Given the description of an element on the screen output the (x, y) to click on. 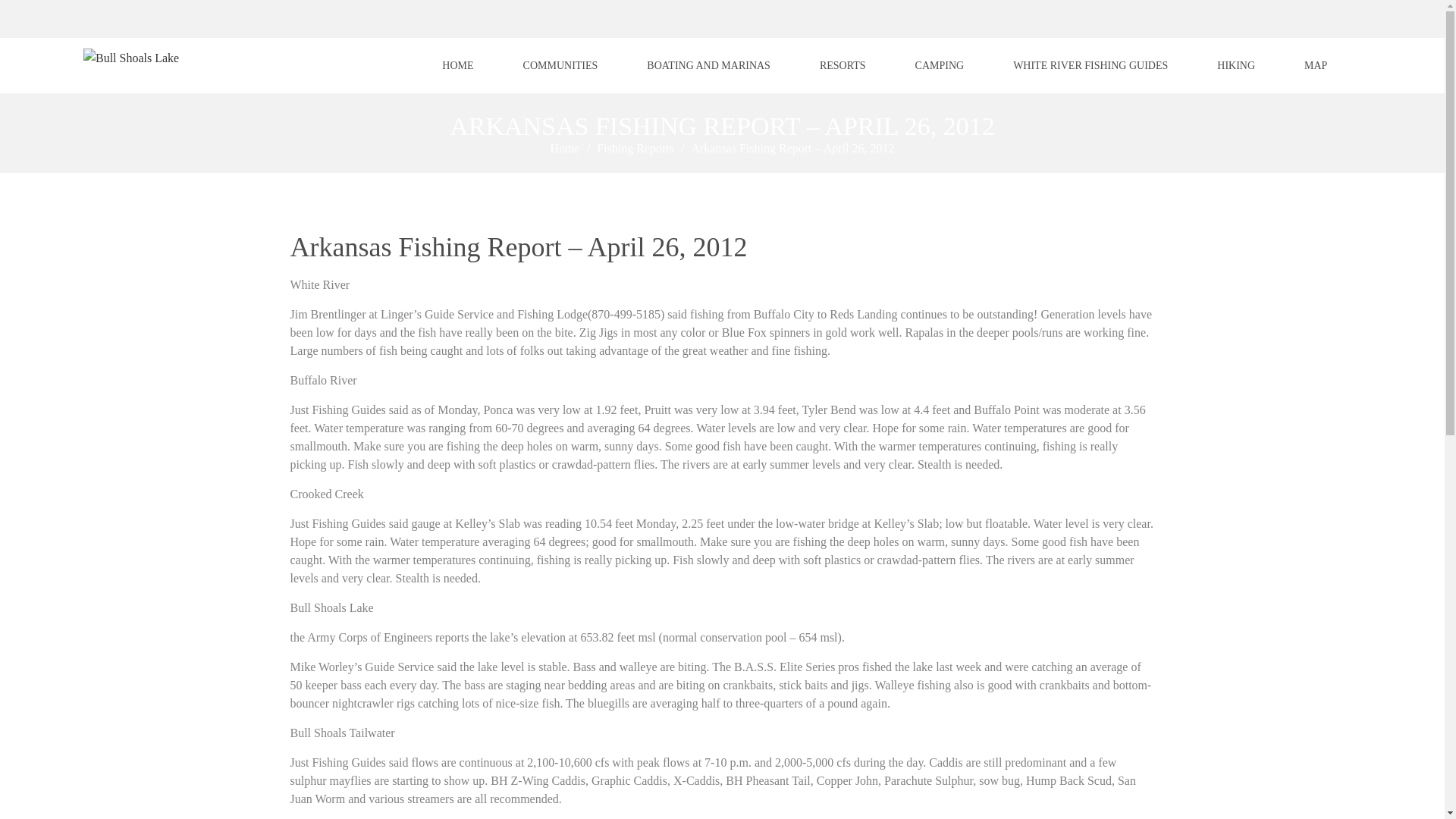
HIKING (1235, 65)
WHITE RIVER FISHING GUIDES (1090, 65)
Fishing Reports (635, 147)
HOME (457, 65)
CAMPING (939, 65)
Home (565, 147)
COMMUNITIES (560, 65)
RESORTS (842, 65)
MAP (1315, 65)
BOATING AND MARINAS (708, 65)
